Given the description of an element on the screen output the (x, y) to click on. 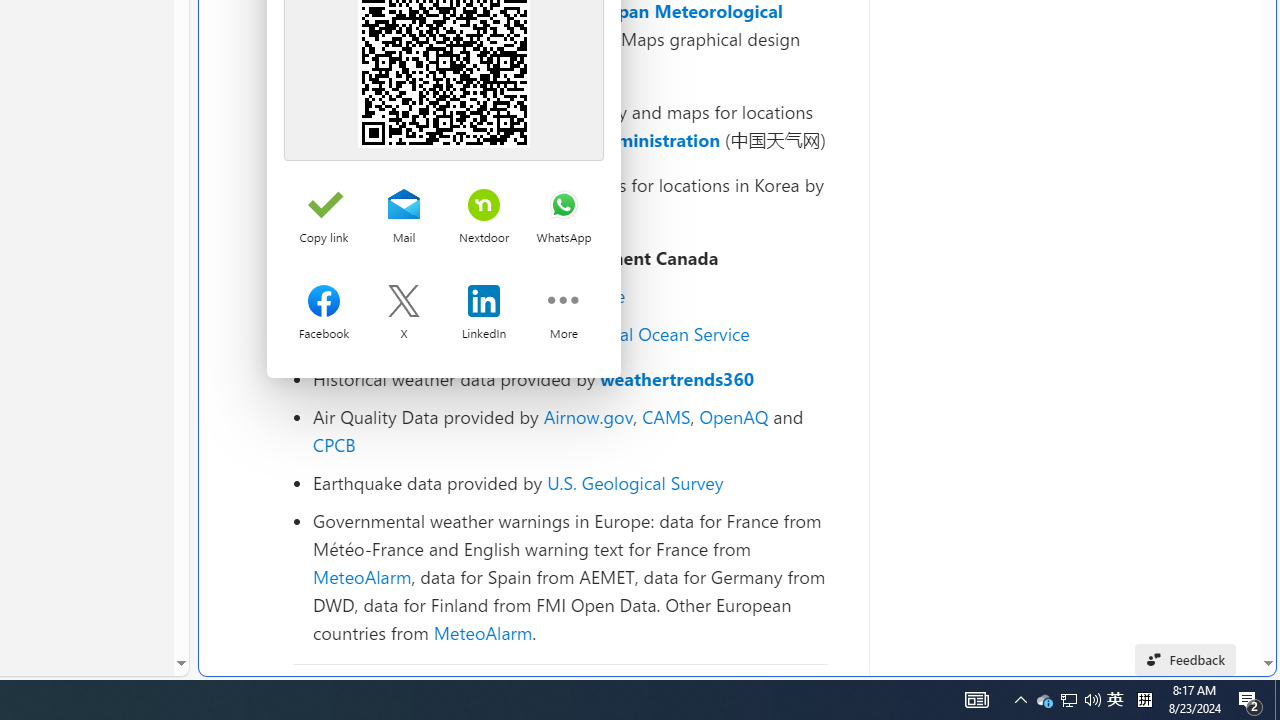
CPCB (334, 444)
Share on facebook (324, 303)
U.S. Geological Survey (635, 482)
Lightning data provided by Nowcast.de (570, 296)
Share via email (403, 206)
Historical weather data provided by weathertrends360 (570, 379)
More share options (563, 303)
China Meteorological Administration (562, 139)
Share on whatsapp (563, 206)
CAMS (666, 416)
Share on LinkedIn (484, 303)
Kweather (352, 212)
